Given the description of an element on the screen output the (x, y) to click on. 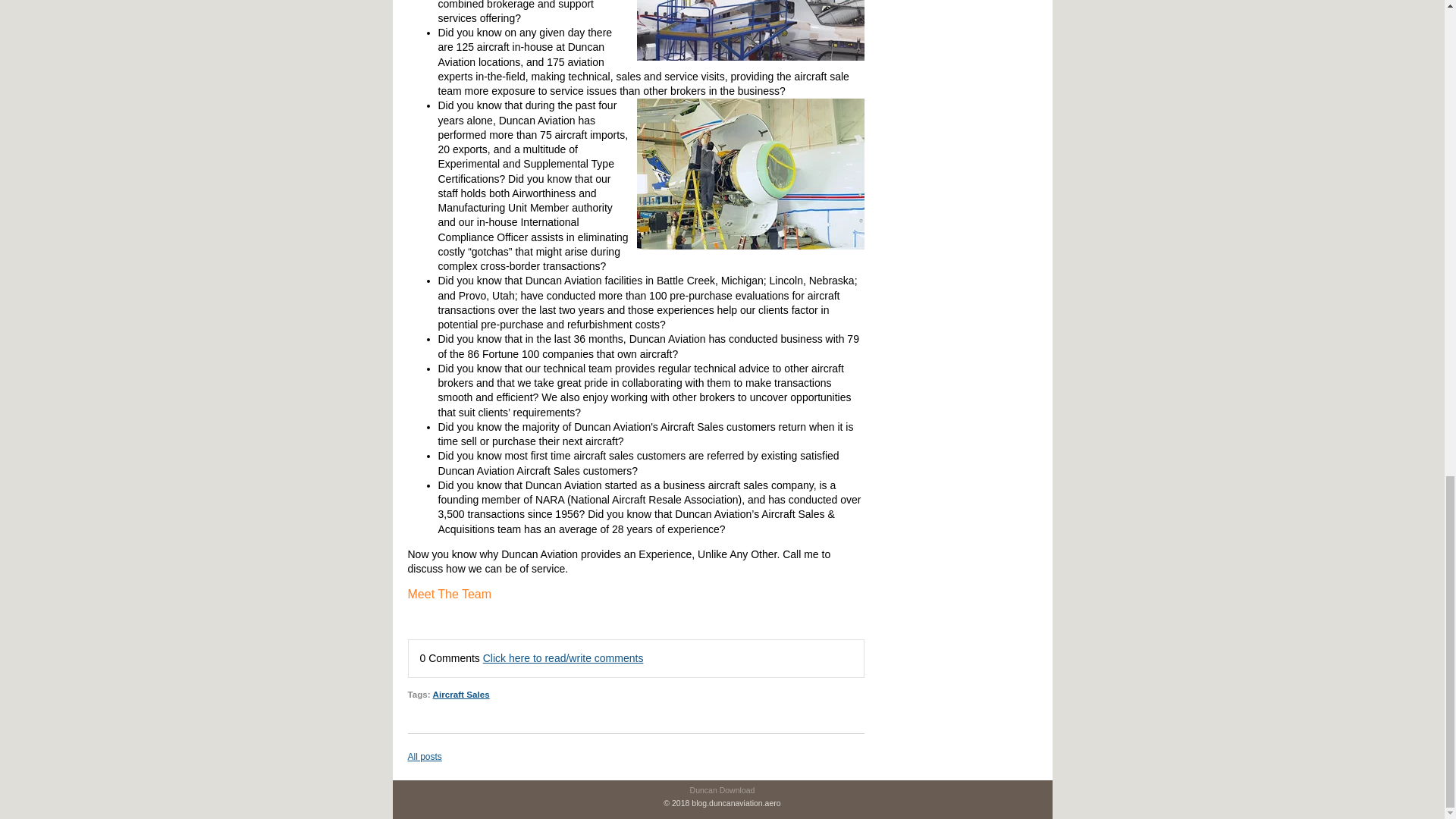
Global engine BTL.jpg (750, 173)
Aircraft Sales (460, 694)
Duncan Download (722, 789)
Falcon-Docking-stand-BTL.jpg (750, 30)
All posts (424, 756)
